Given the description of an element on the screen output the (x, y) to click on. 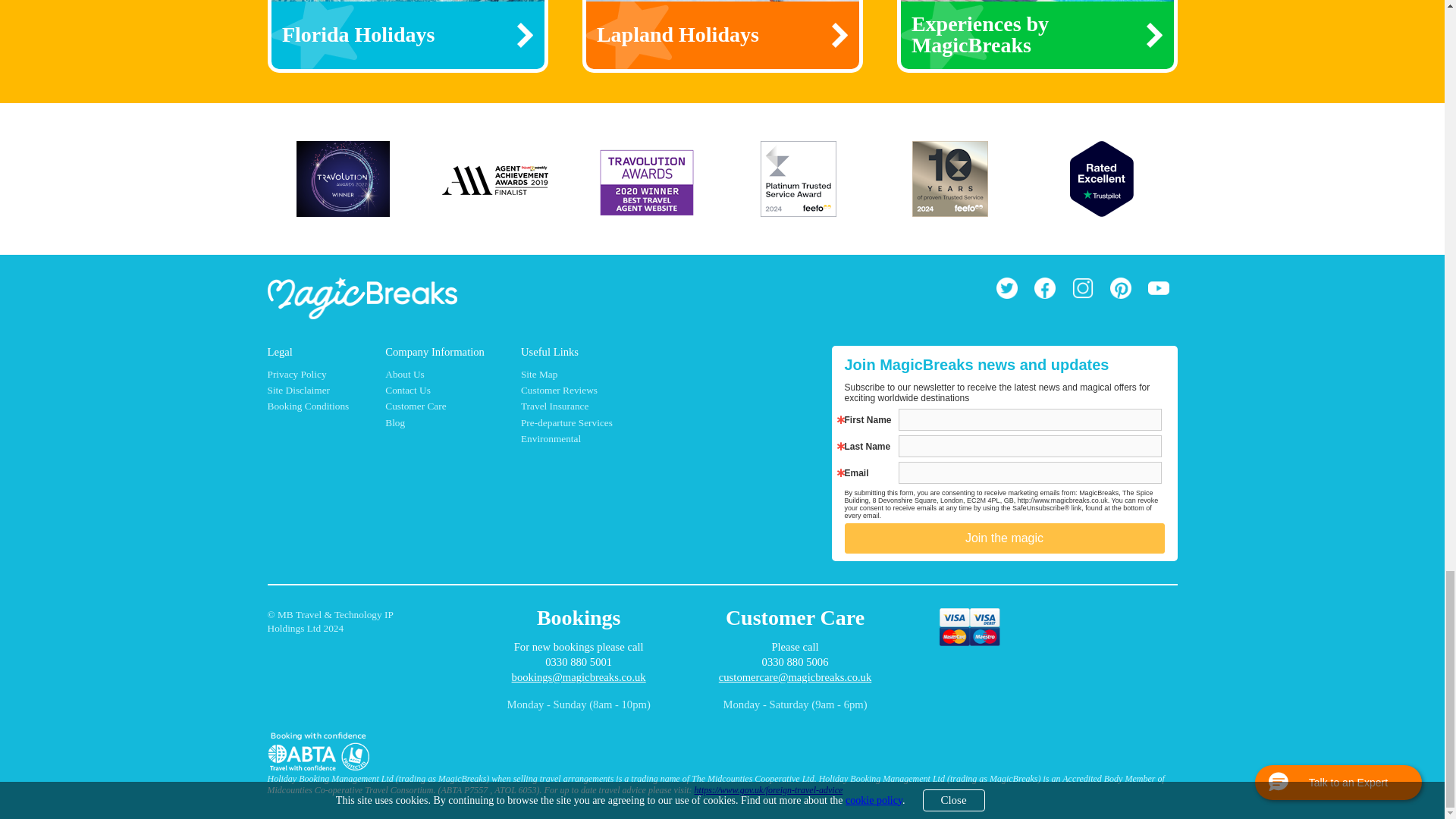
Join the magic (1004, 538)
